Given the description of an element on the screen output the (x, y) to click on. 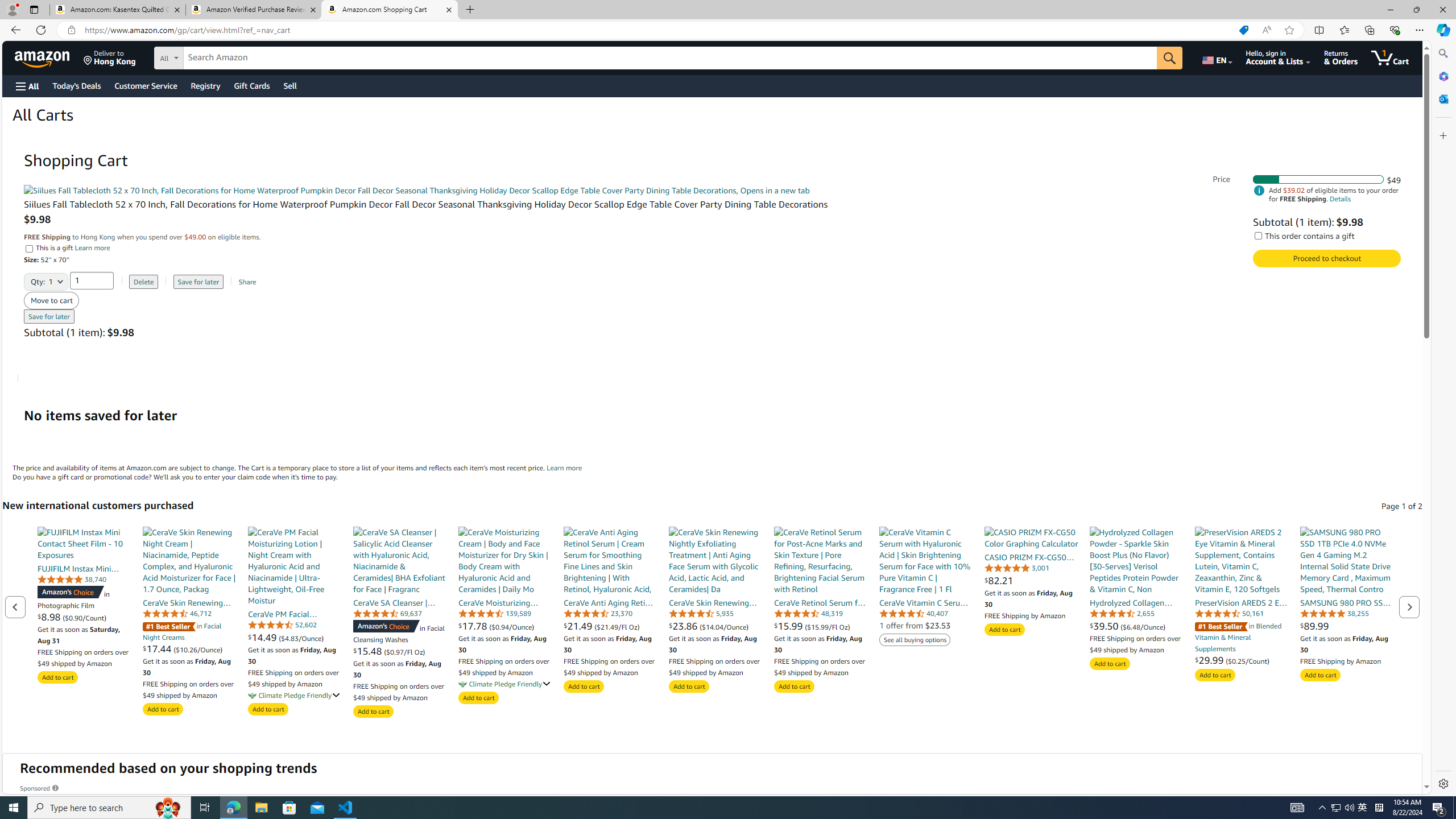
($0.94/Ounce) (511, 626)
($0.90/Count) (84, 616)
Class: a-link-normal (1346, 602)
